Given the description of an element on the screen output the (x, y) to click on. 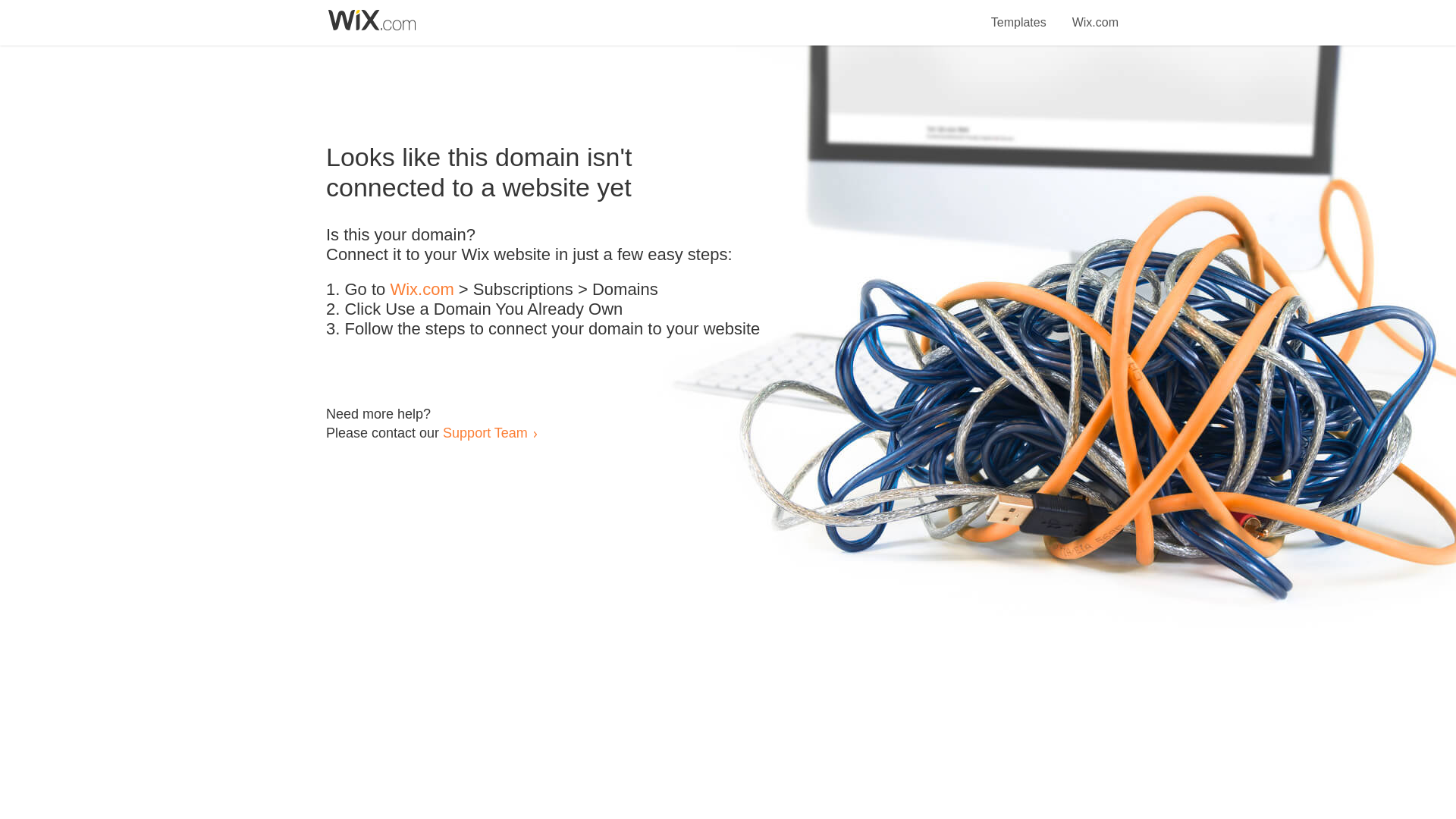
Support Team (484, 432)
Wix.com (421, 289)
Wix.com (1095, 14)
Templates (1018, 14)
